Given the description of an element on the screen output the (x, y) to click on. 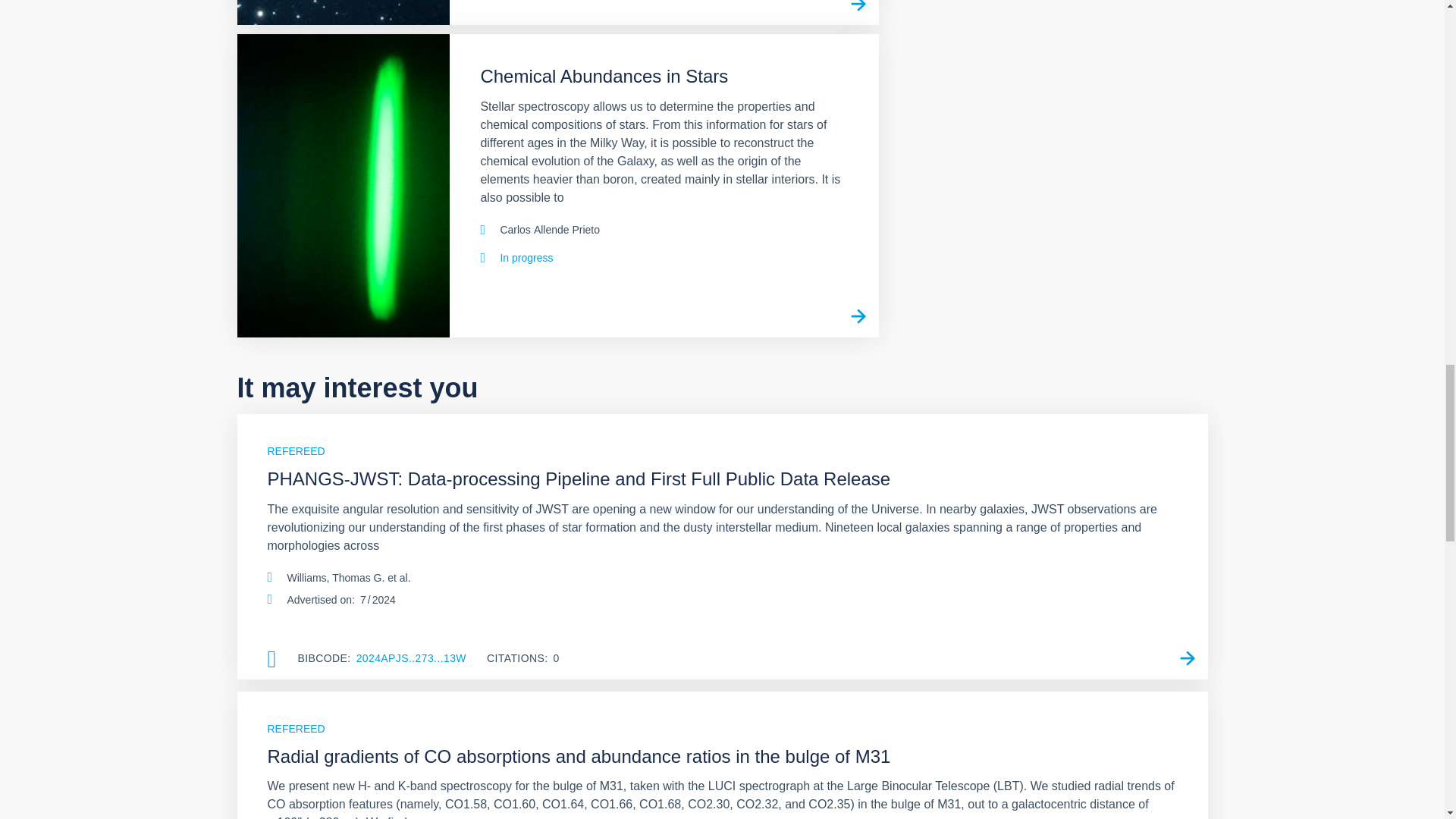
Chemical Abundances in Stars (858, 316)
Mercury spectrum (343, 185)
